Given the description of an element on the screen output the (x, y) to click on. 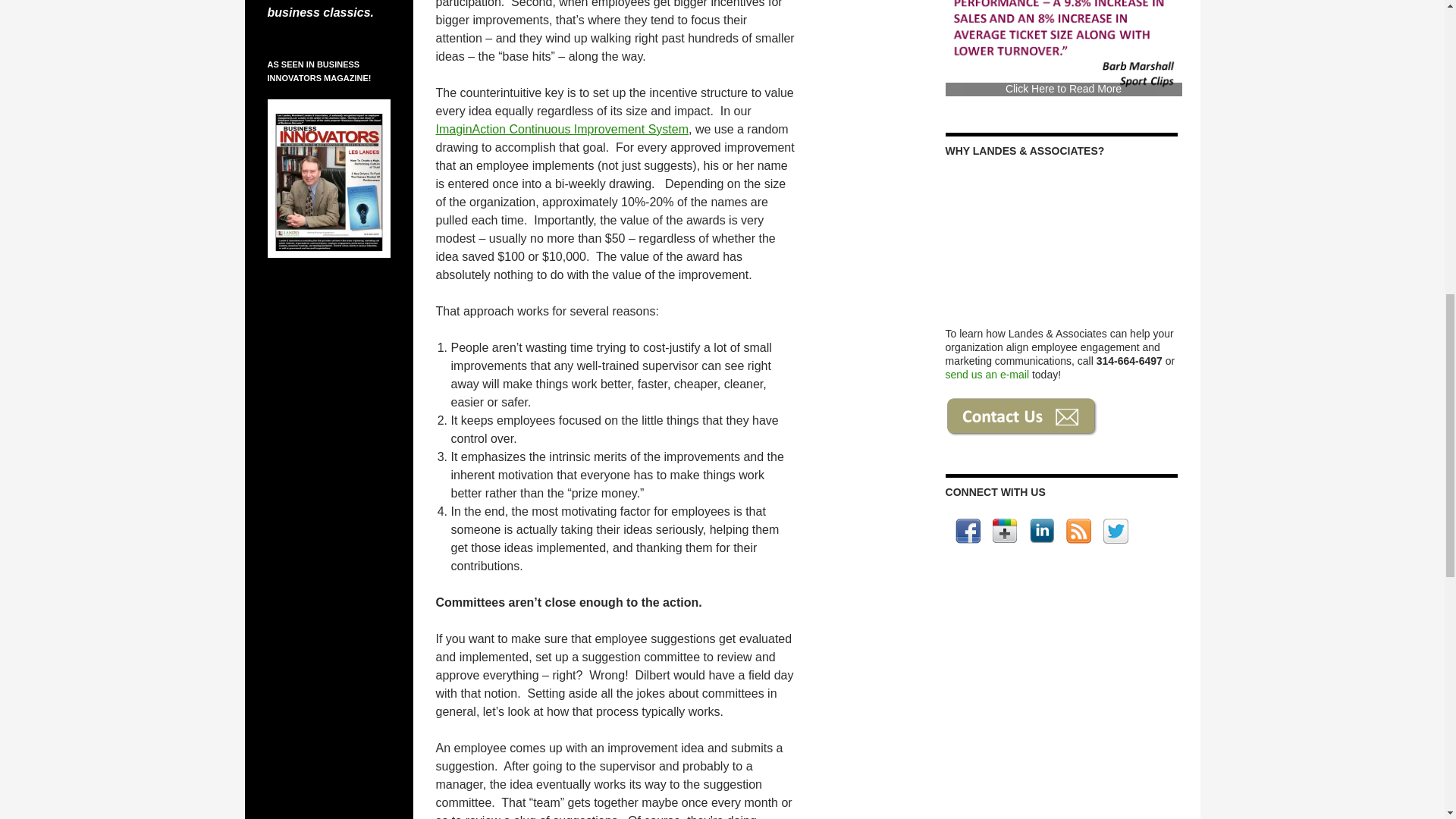
Recommend this page! (1004, 530)
Contact Us (1021, 416)
ImaginAction Continuous Improvement System (561, 128)
Link to my Twitter Page (1115, 530)
Link to my Facebook Page (967, 530)
Link to my Linkedin Page (1041, 530)
Link to my Rss Page (1077, 530)
ImaginAction Continuous Improvement System (561, 128)
